Given the description of an element on the screen output the (x, y) to click on. 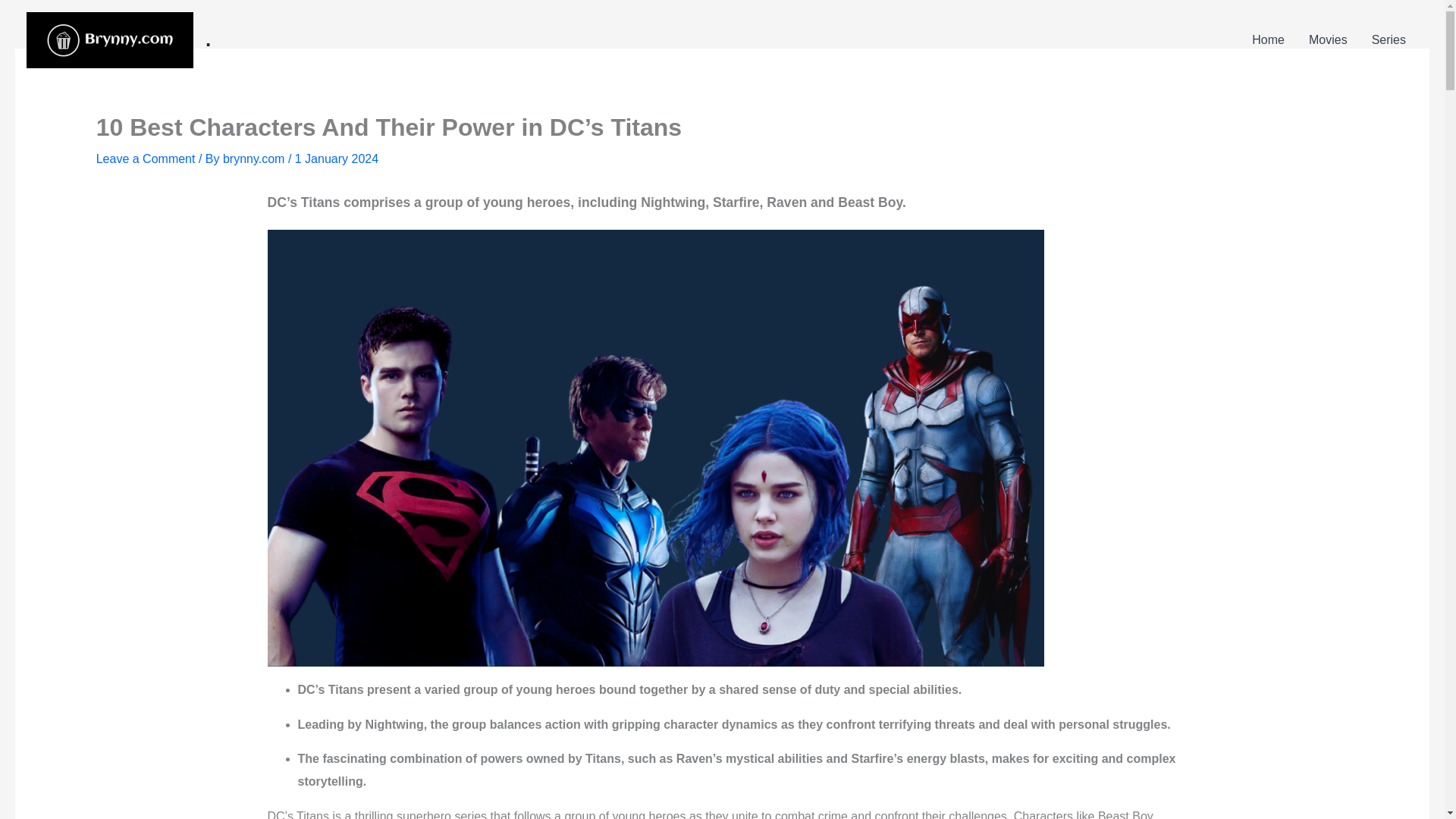
Series (1388, 39)
. (208, 38)
brynny.com (255, 158)
View all posts by brynny.com (255, 158)
Home (1268, 39)
Movies (1328, 39)
Leave a Comment (145, 158)
